Given the description of an element on the screen output the (x, y) to click on. 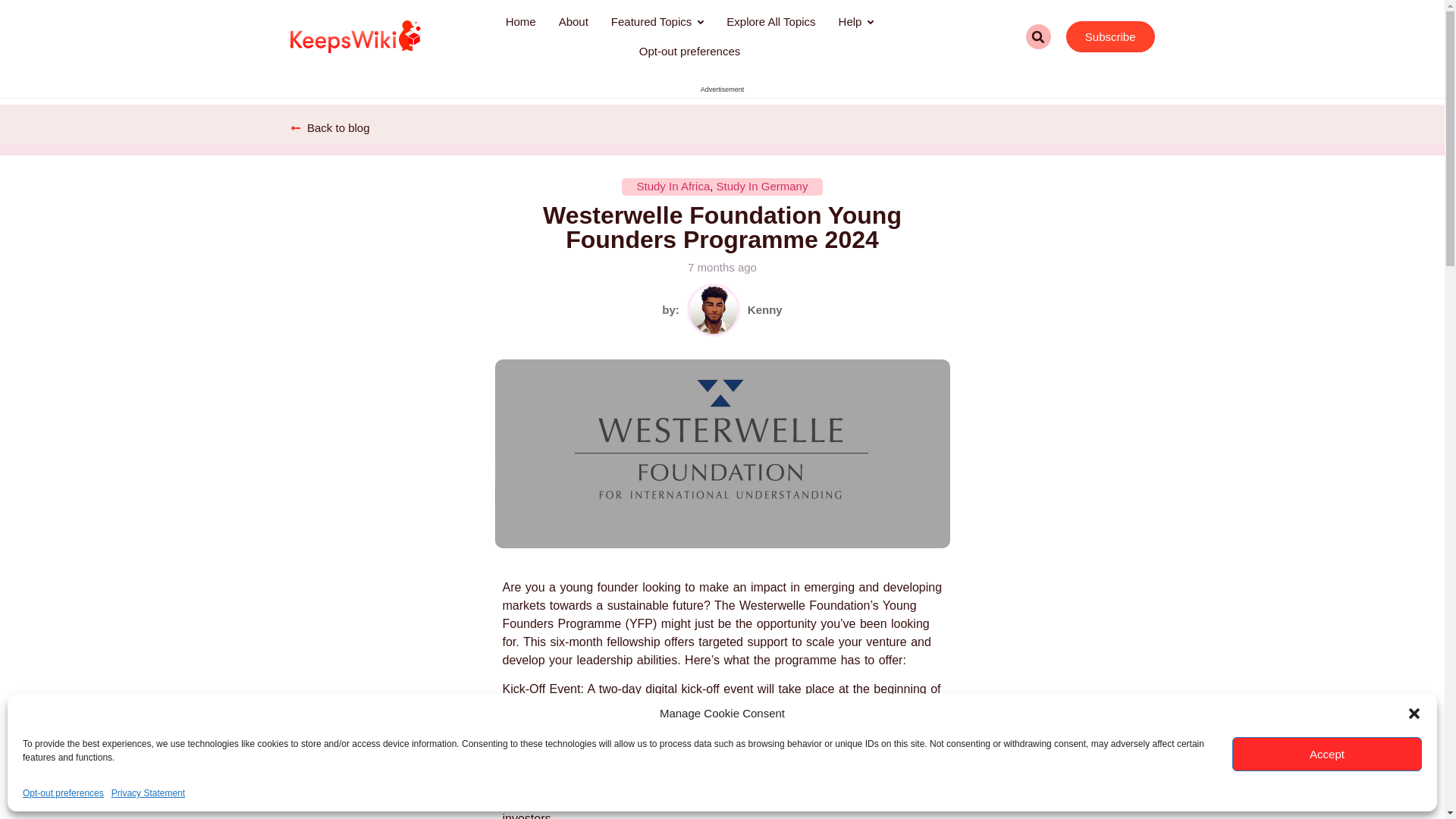
Opt-out preferences (689, 51)
Explore All Topics (770, 21)
Privacy Statement (148, 793)
Home (521, 21)
About (573, 21)
Help (856, 21)
Accept (1326, 754)
Featured Topics (656, 21)
Subscribe (1109, 36)
Opt-out preferences (63, 793)
